Given the description of an element on the screen output the (x, y) to click on. 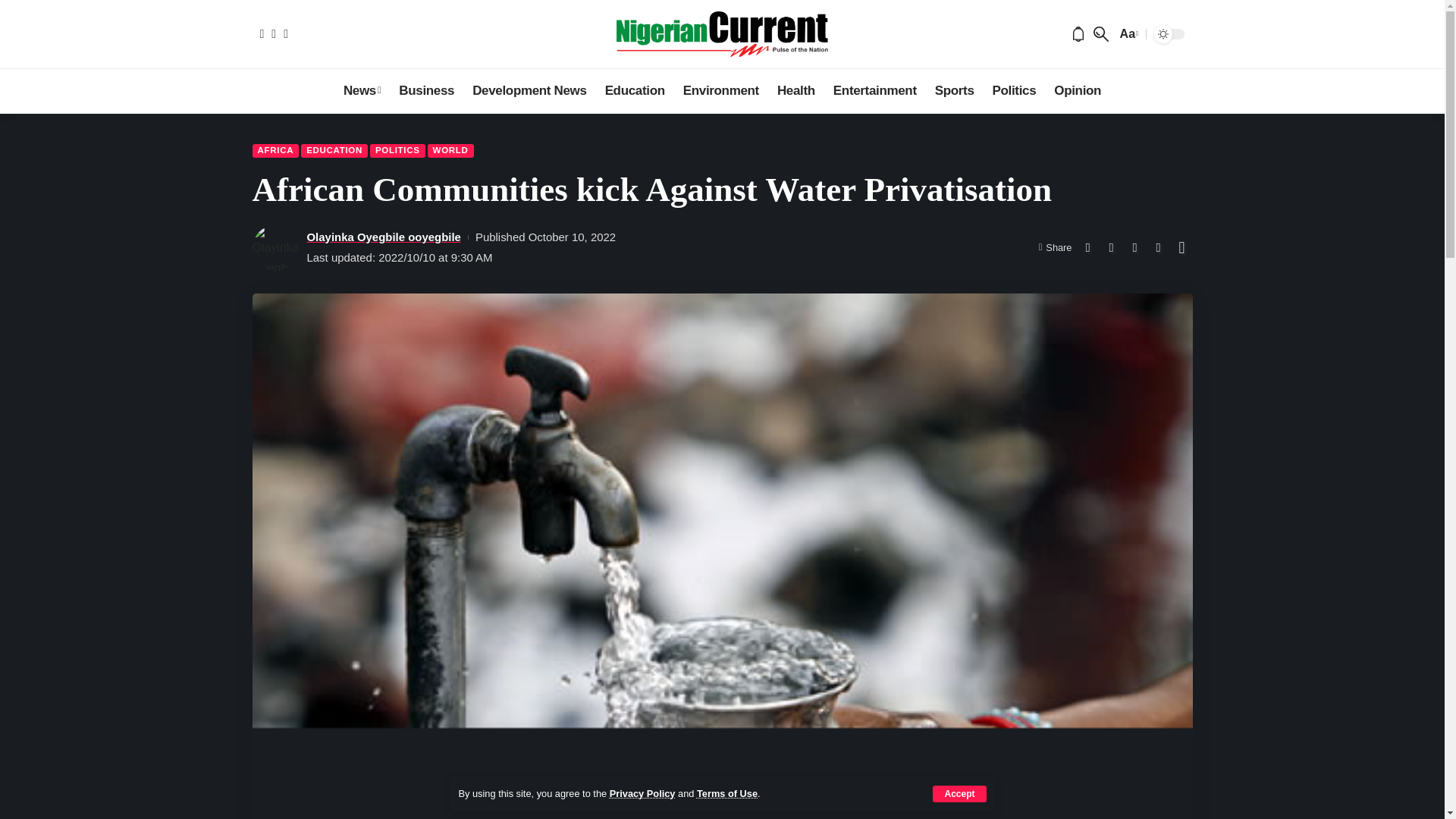
Education (634, 90)
Entertainment (875, 90)
Politics (1014, 90)
Accept (959, 793)
AFRICA (274, 151)
Privacy Policy (642, 793)
Nigerian Current (721, 33)
Aa (1127, 33)
Development News (529, 90)
Environment (721, 90)
